Given the description of an element on the screen output the (x, y) to click on. 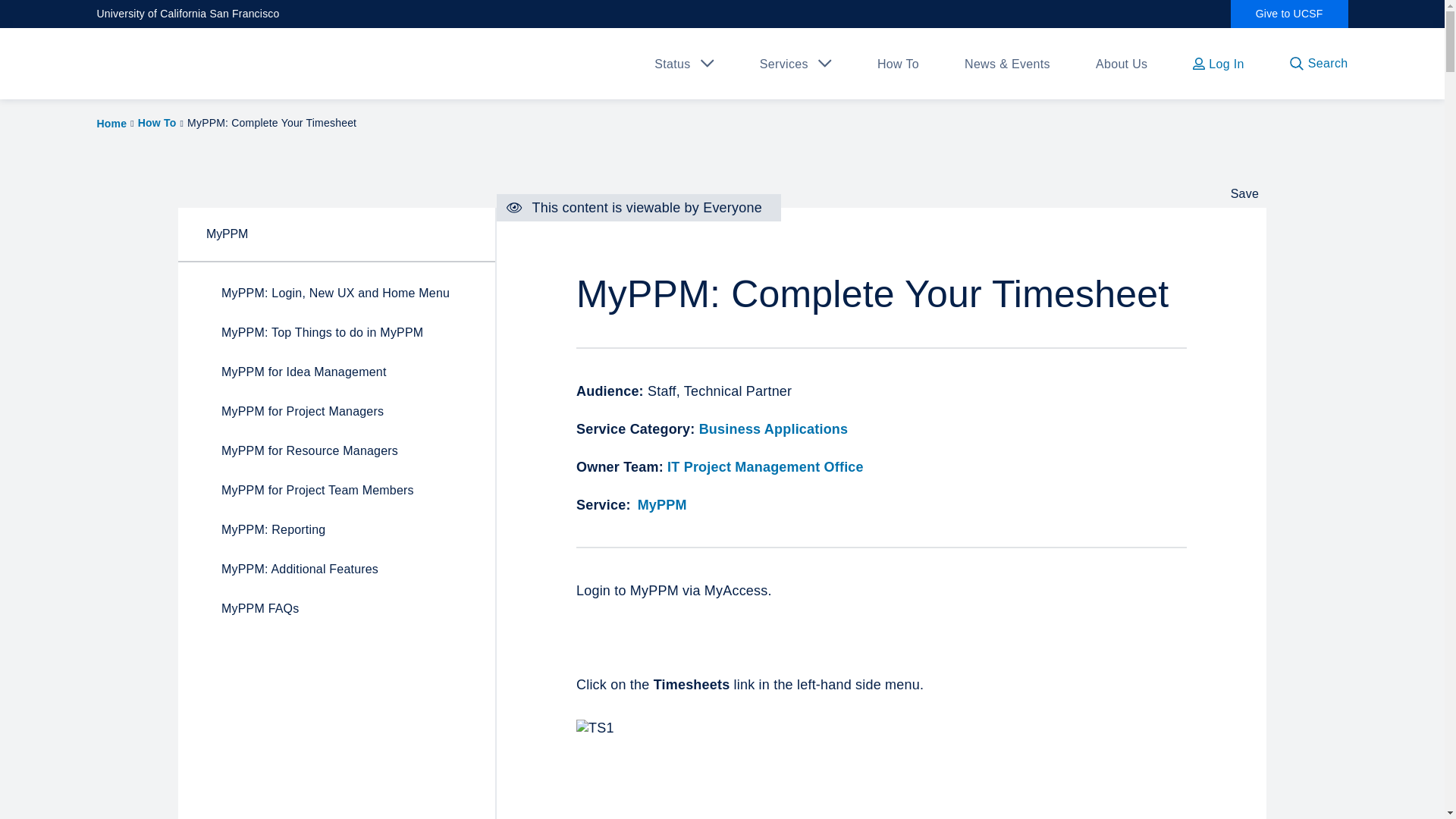
MyPPM for Project Managers (332, 411)
MyPPM: Top Things to do in MyPPM (332, 332)
Services (784, 63)
MyPPM: Additional Features (332, 568)
How To (157, 122)
MyPPM for Resource Managers (332, 450)
IT Project Management Office (764, 467)
Home (112, 122)
Status (671, 63)
